Given the description of an element on the screen output the (x, y) to click on. 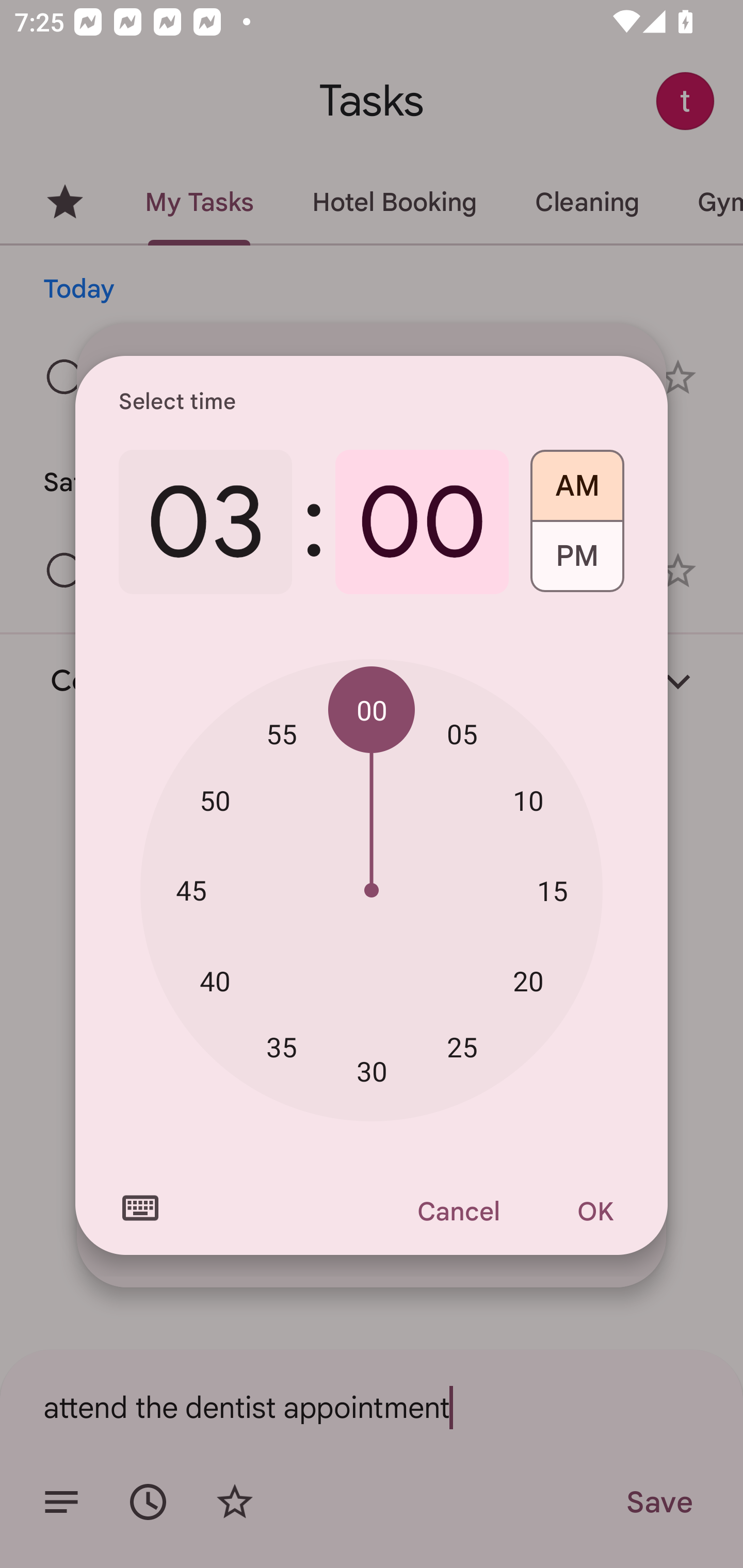
AM (577, 478)
03 3 o'clock (204, 522)
00 0 minutes (421, 522)
PM (577, 563)
00 00 minutes (371, 710)
55 55 minutes (281, 733)
05 05 minutes (462, 733)
50 50 minutes (214, 800)
10 10 minutes (528, 800)
45 45 minutes (190, 889)
15 15 minutes (551, 890)
40 40 minutes (214, 980)
20 20 minutes (528, 980)
35 35 minutes (281, 1046)
25 25 minutes (462, 1046)
30 30 minutes (371, 1071)
Switch to text input mode for the time input. (140, 1208)
Cancel (458, 1211)
OK (595, 1211)
